Given the description of an element on the screen output the (x, y) to click on. 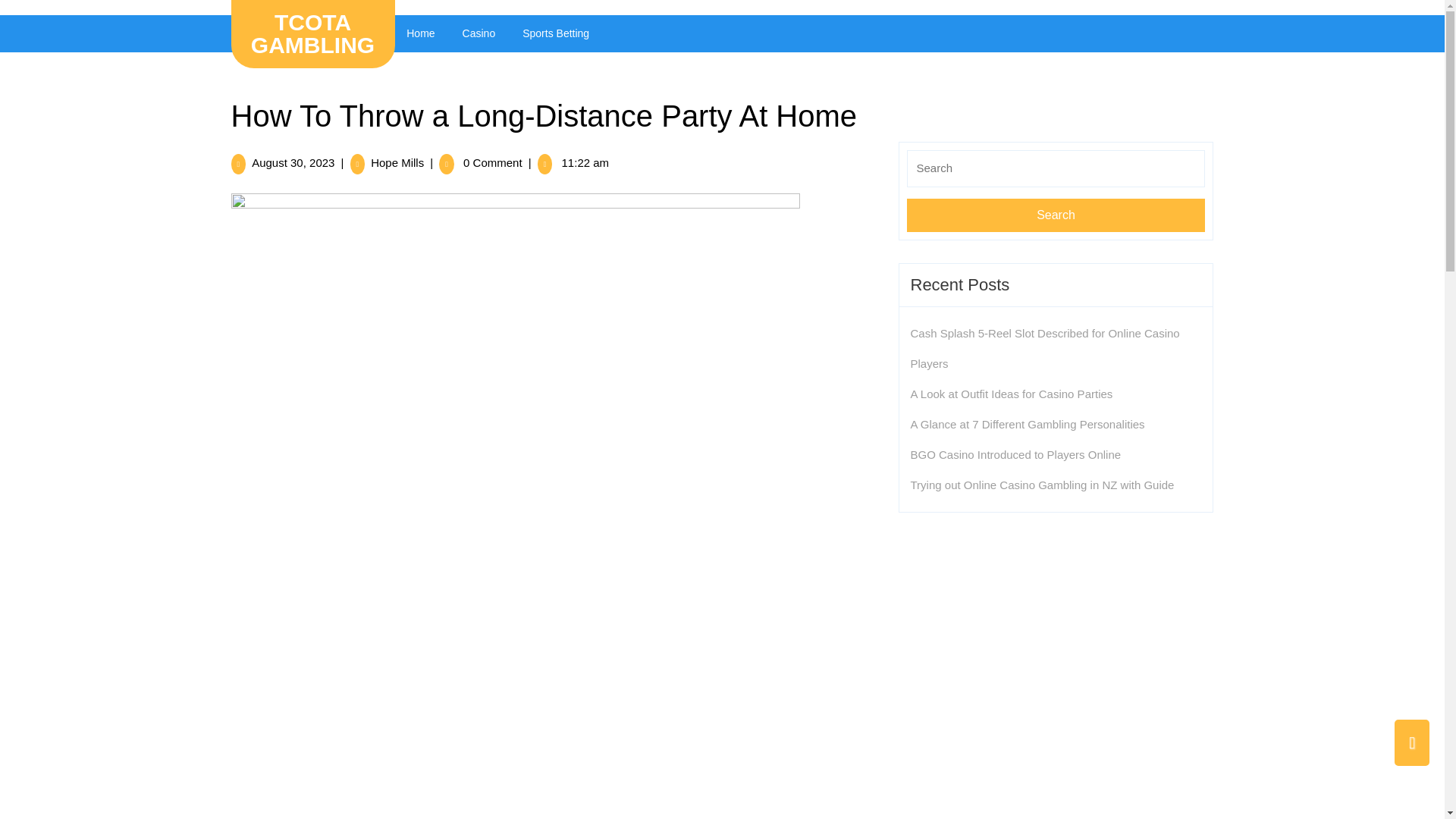
A Look at Outfit Ideas for Casino Parties (1011, 393)
Cash Splash 5-Reel Slot Described for Online Casino Players (292, 162)
A Glance at 7 Different Gambling Personalities (1044, 348)
BGO Casino Introduced to Players Online (1027, 423)
Home (1015, 454)
Search (420, 33)
Search (1056, 215)
Casino (397, 162)
